Given the description of an element on the screen output the (x, y) to click on. 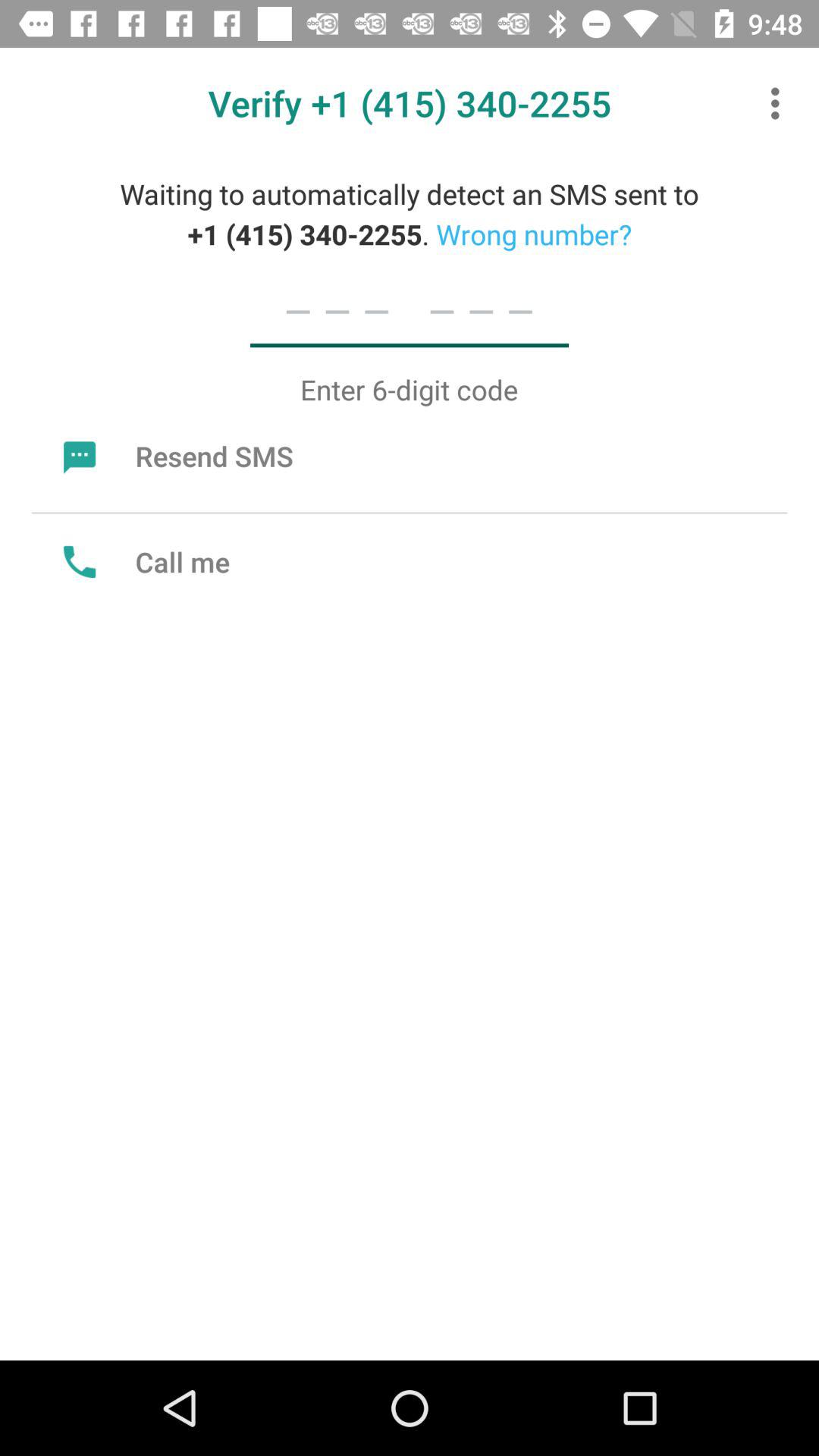
scroll until the waiting to automatically (409, 214)
